Given the description of an element on the screen output the (x, y) to click on. 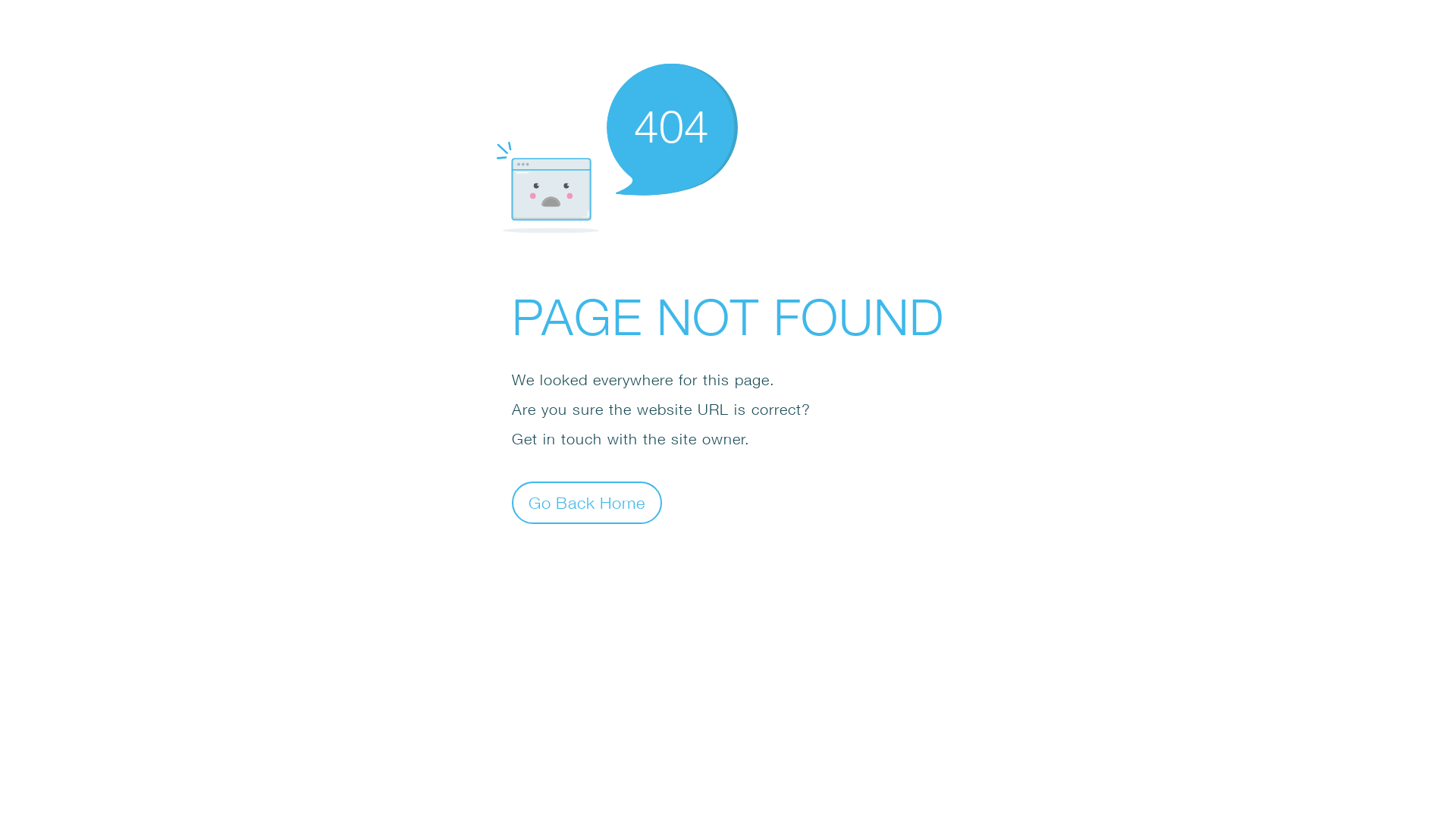
Go Back Home Element type: text (586, 502)
